Given the description of an element on the screen output the (x, y) to click on. 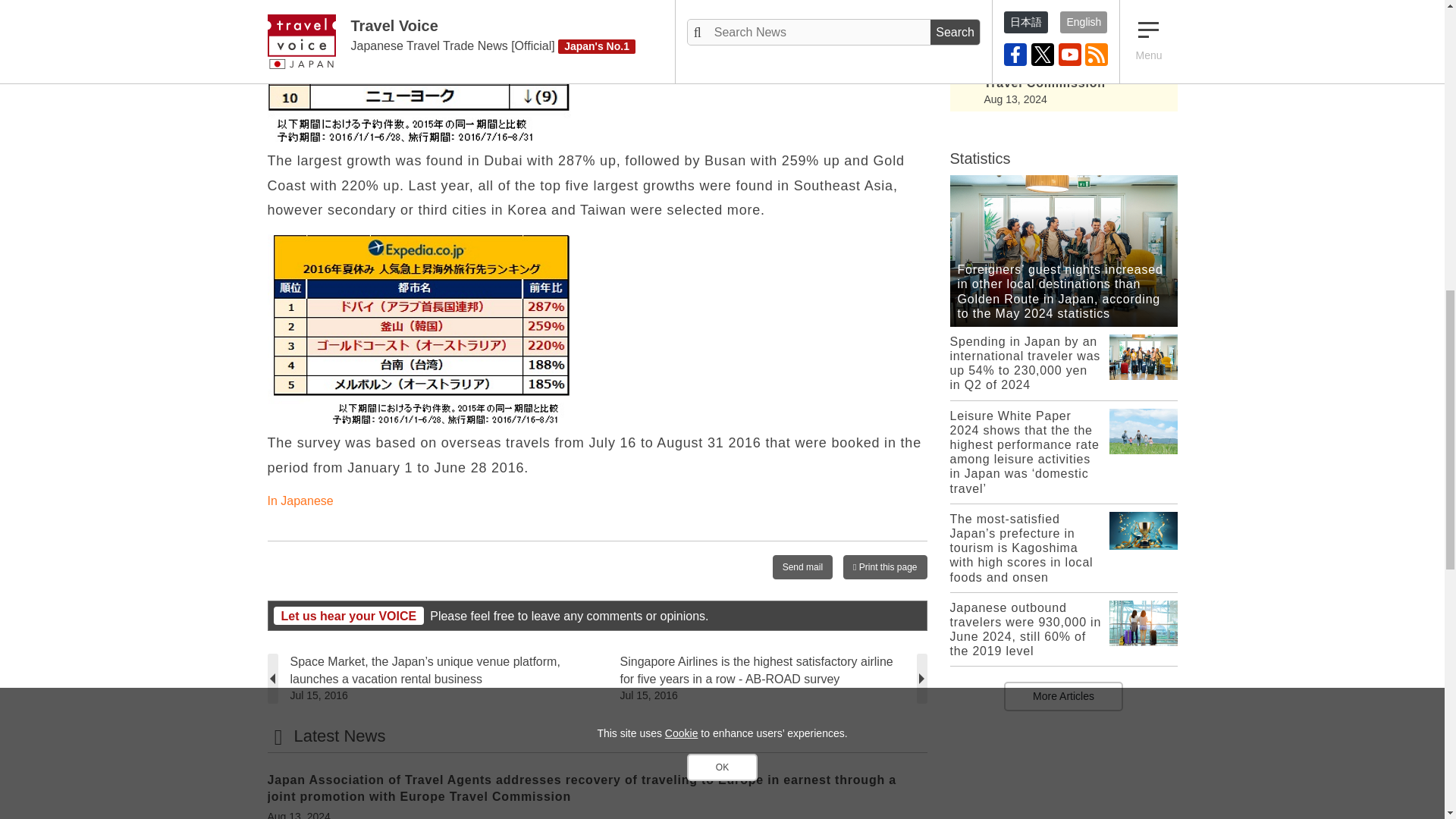
In Japanese (299, 500)
Send mail (802, 567)
Print this page (884, 567)
